Given the description of an element on the screen output the (x, y) to click on. 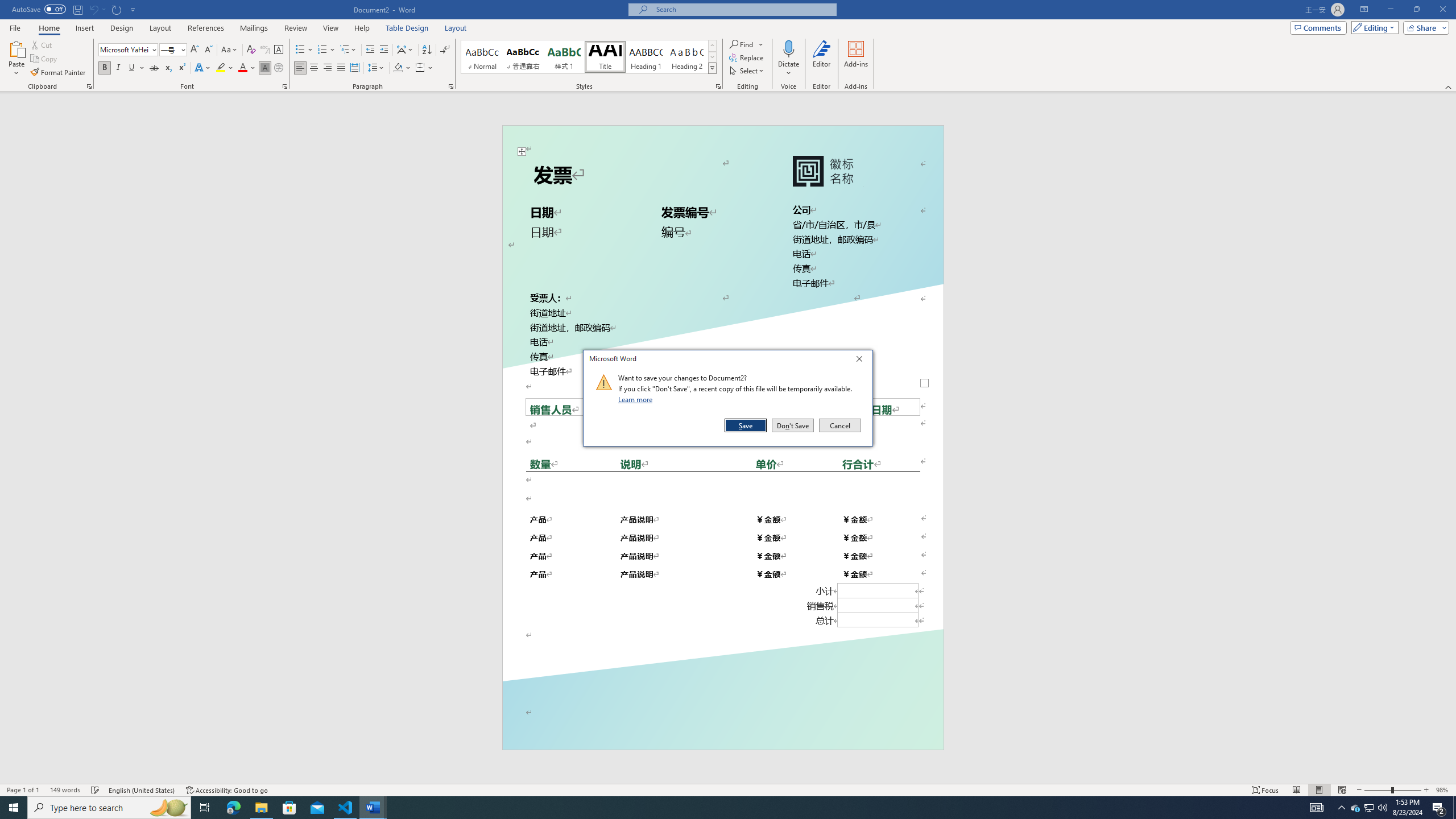
First Page Footer -Section 1- (722, 723)
